Given the description of an element on the screen output the (x, y) to click on. 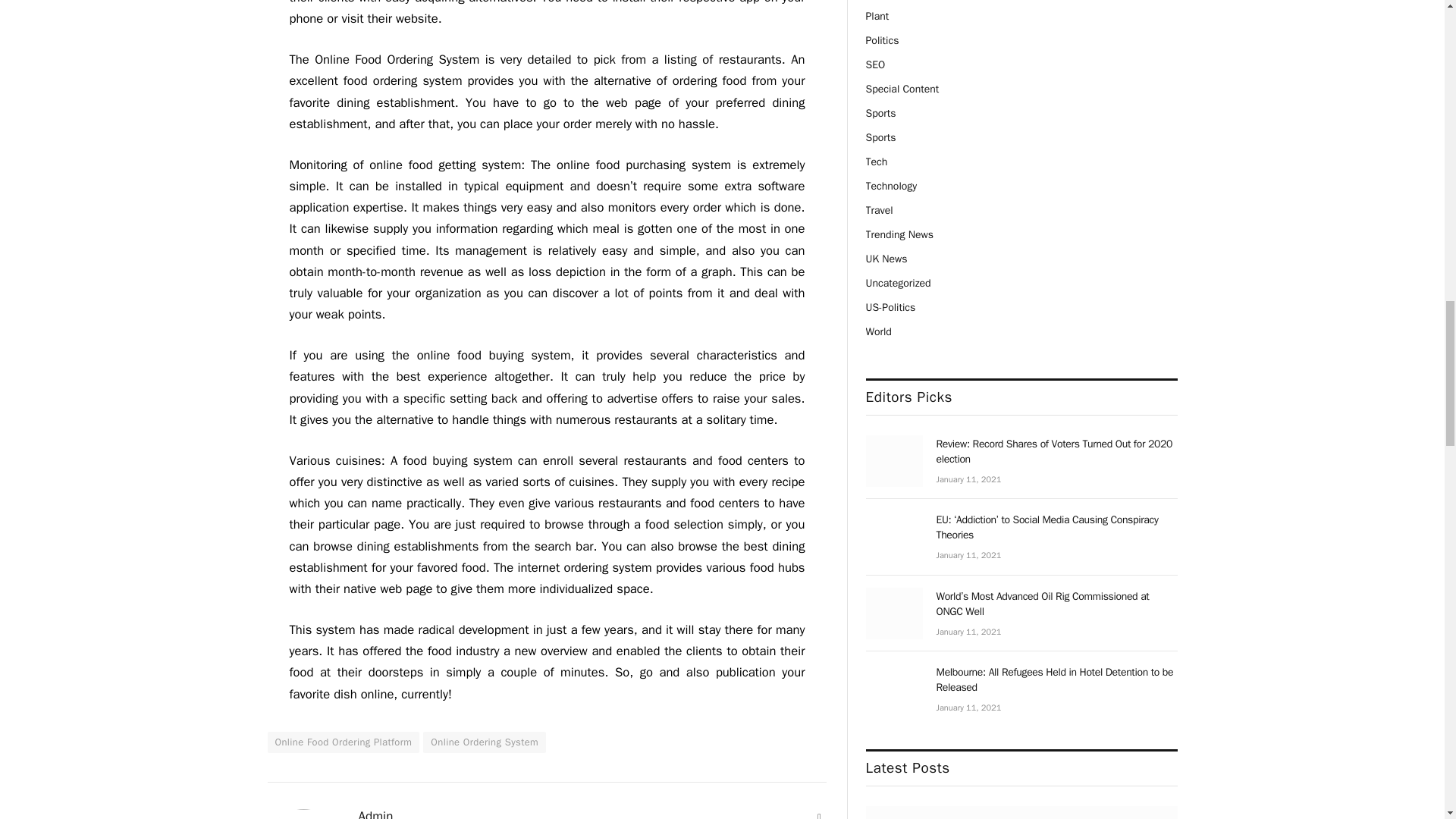
Website (818, 814)
Review: Record Shares of Voters Turned Out for 2020 election (894, 460)
Posts by Admin (375, 814)
